Given the description of an element on the screen output the (x, y) to click on. 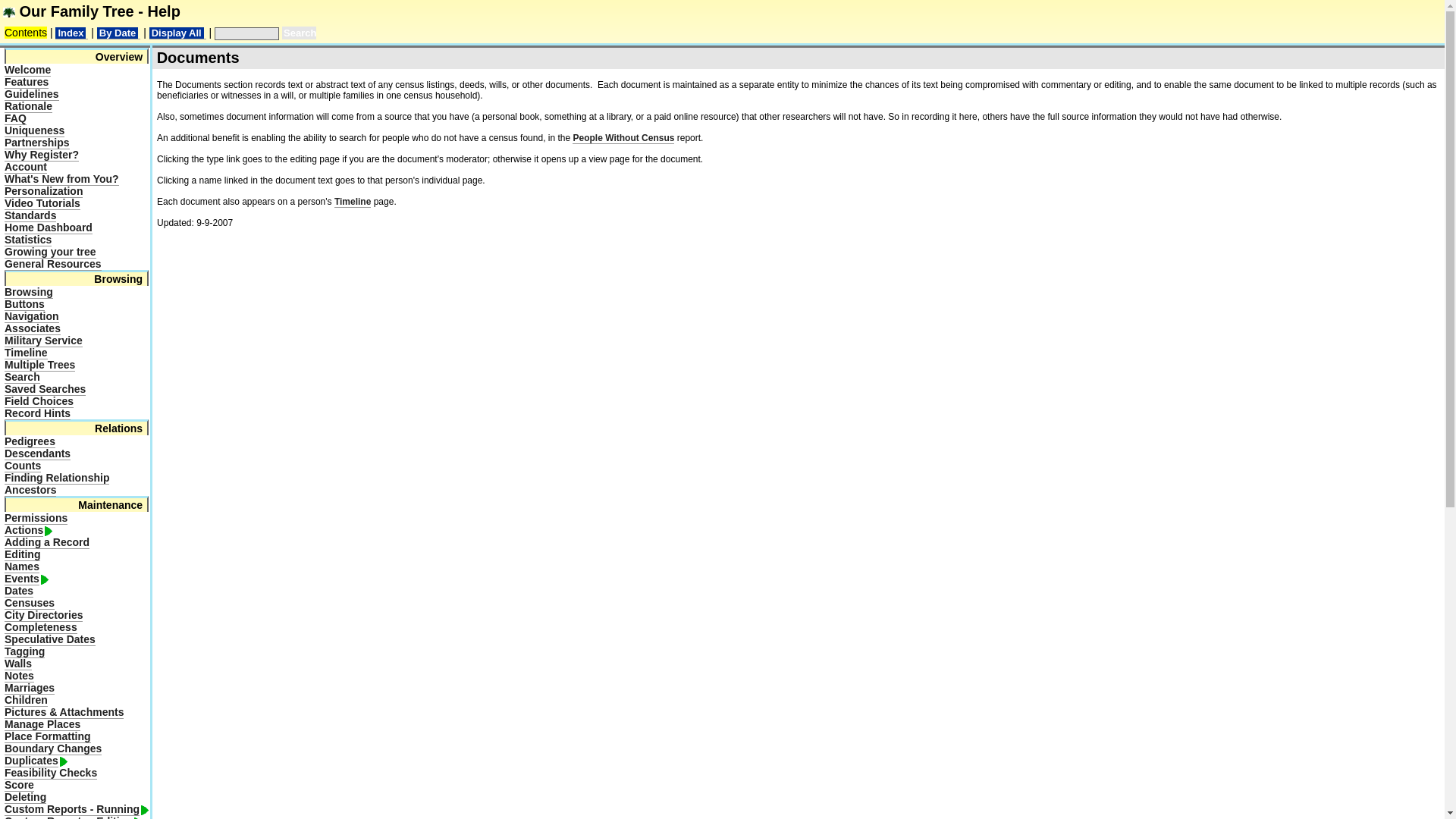
Search (298, 32)
Browsing (28, 291)
Military Service (43, 340)
Search (298, 32)
Display All (177, 32)
Search (22, 377)
Saved Searches (44, 389)
Field Choices (39, 400)
Timeline (26, 352)
Partnerships (36, 142)
Why Register? (41, 154)
Multiple Trees (39, 364)
Associates (32, 328)
Uniqueness (34, 130)
Account (25, 166)
